Given the description of an element on the screen output the (x, y) to click on. 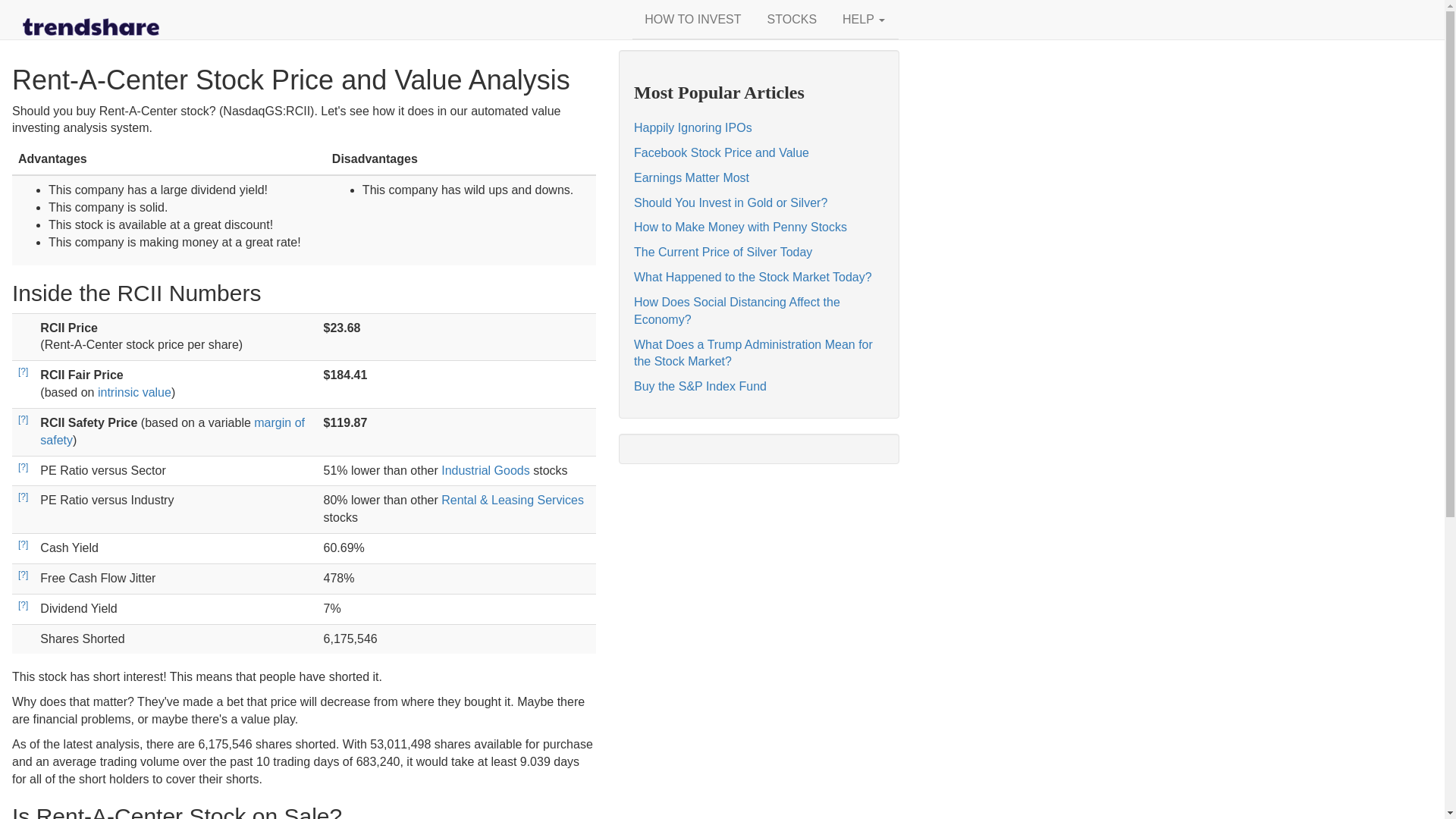
Industrial Goods (485, 470)
Home (90, 18)
Trendshare logo (90, 26)
HOW TO INVEST (691, 19)
intrinsic value (134, 391)
margin of safety (172, 431)
STOCKS (792, 19)
HELP (862, 19)
